Given the description of an element on the screen output the (x, y) to click on. 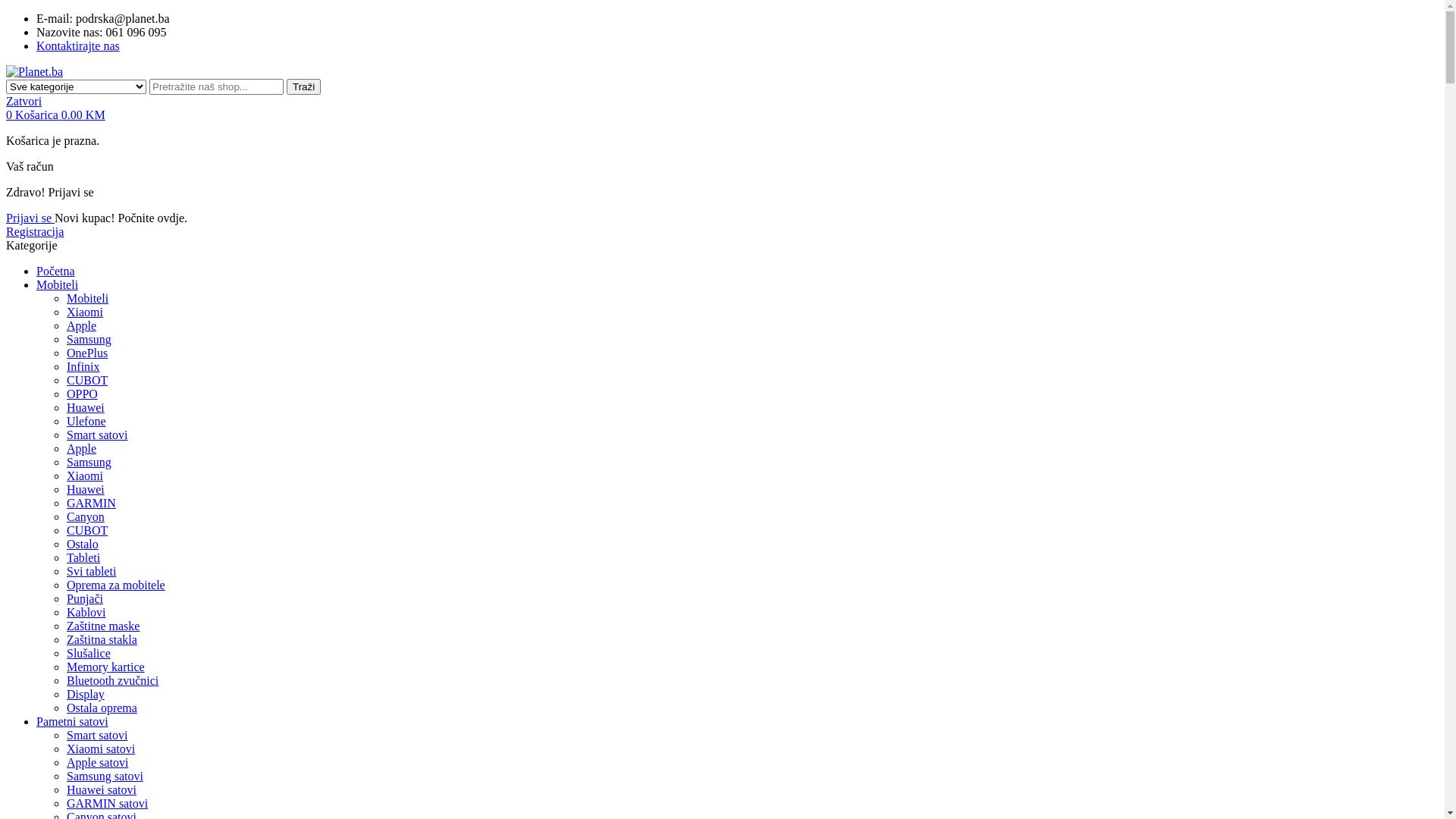
Zatvori Element type: text (23, 100)
Xiaomi satovi Element type: text (100, 748)
Smart satovi Element type: text (96, 734)
Oprema za mobitele Element type: text (115, 584)
GARMIN Element type: text (91, 502)
Infinix Element type: text (83, 366)
Display Element type: text (85, 693)
CUBOT Element type: text (86, 379)
CUBOT Element type: text (86, 530)
Huawei Element type: text (85, 407)
Mobiteli Element type: text (87, 297)
Ulefone Element type: text (86, 420)
Apple Element type: text (81, 448)
Apple Element type: text (81, 325)
Svi tableti Element type: text (91, 570)
Samsung Element type: text (88, 338)
Xiaomi Element type: text (84, 475)
Prijavi se Element type: text (30, 217)
Apple satovi Element type: text (97, 762)
Pametni satovi Element type: text (72, 721)
OnePlus Element type: text (86, 352)
Smart satovi Element type: text (96, 434)
Registracija Element type: text (34, 231)
Huawei satovi Element type: text (101, 789)
GARMIN satovi Element type: text (106, 803)
Canyon Element type: text (85, 516)
Mobiteli Element type: text (57, 284)
Ostalo Element type: text (82, 543)
Samsung satovi Element type: text (104, 775)
Ostala oprema Element type: text (101, 707)
Tableti Element type: text (83, 557)
OPPO Element type: text (81, 393)
Huawei Element type: text (85, 489)
Kablovi Element type: text (86, 611)
Memory kartice Element type: text (105, 666)
Samsung Element type: text (88, 461)
Kontaktirajte nas Element type: text (77, 45)
Xiaomi Element type: text (84, 311)
